Given the description of an element on the screen output the (x, y) to click on. 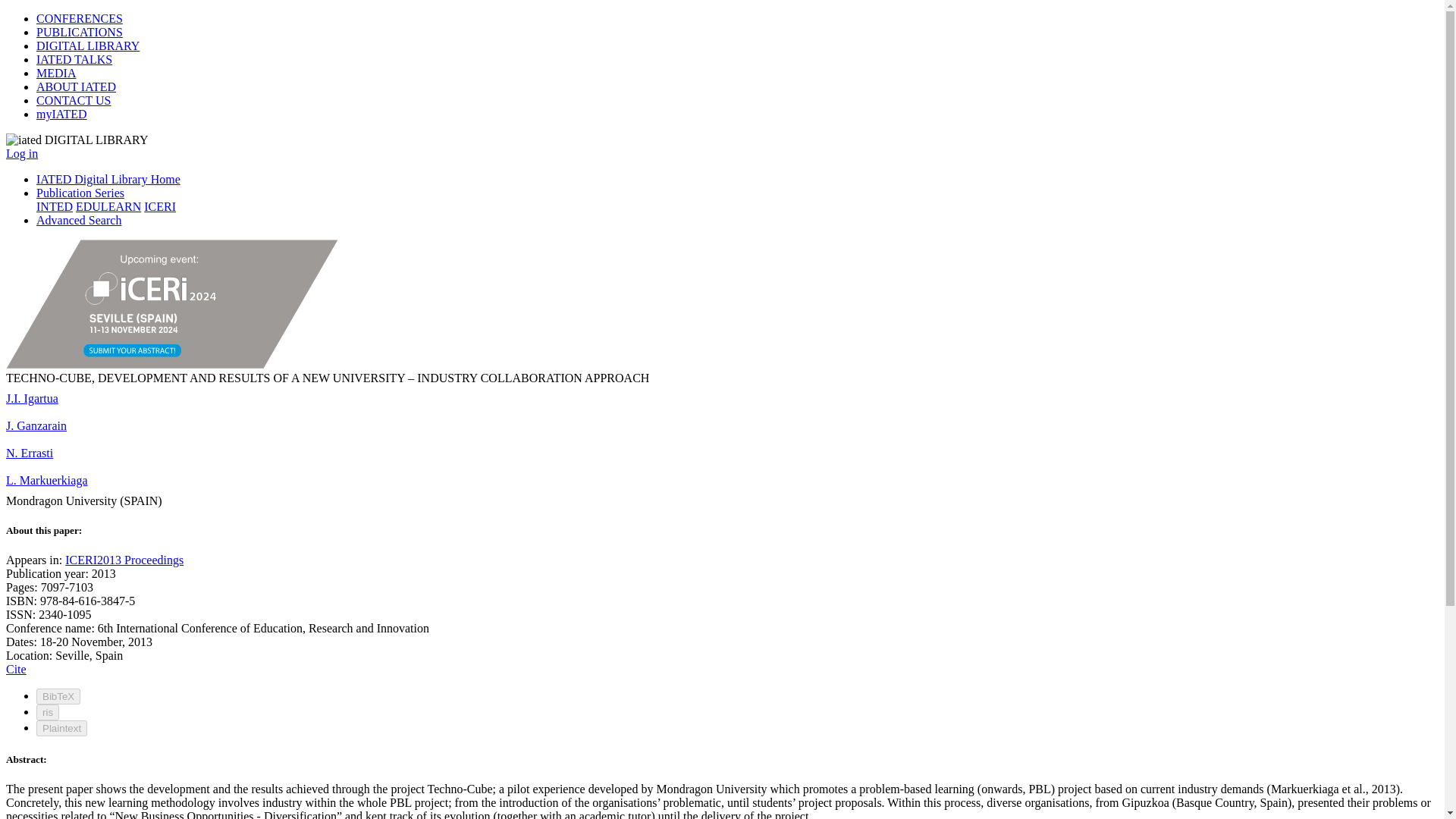
N. Errasti (28, 452)
IATED TALKS (74, 59)
Plaintext (61, 728)
J.I. Igartua (31, 398)
CONTACT US (73, 100)
ICERI2013 Proceedings (124, 559)
BibTeX (58, 696)
Publication Series (79, 192)
ris (47, 712)
myIATED (61, 113)
